Given the description of an element on the screen output the (x, y) to click on. 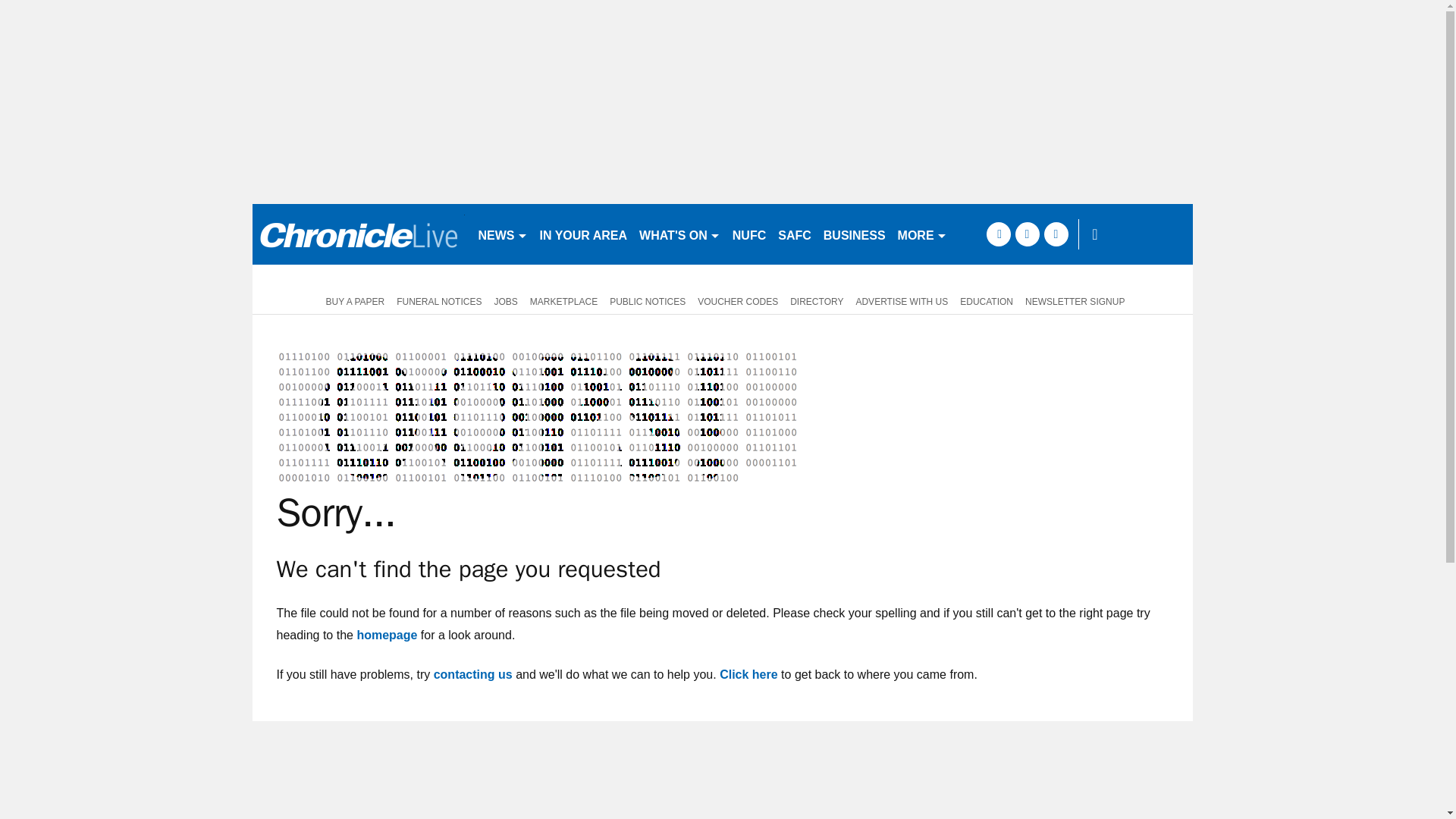
IN YOUR AREA (583, 233)
facebook (997, 233)
instagram (1055, 233)
twitter (1026, 233)
NEWS (501, 233)
nechronicle (357, 233)
WHAT'S ON (679, 233)
MORE (922, 233)
BUSINESS (853, 233)
